Given the description of an element on the screen output the (x, y) to click on. 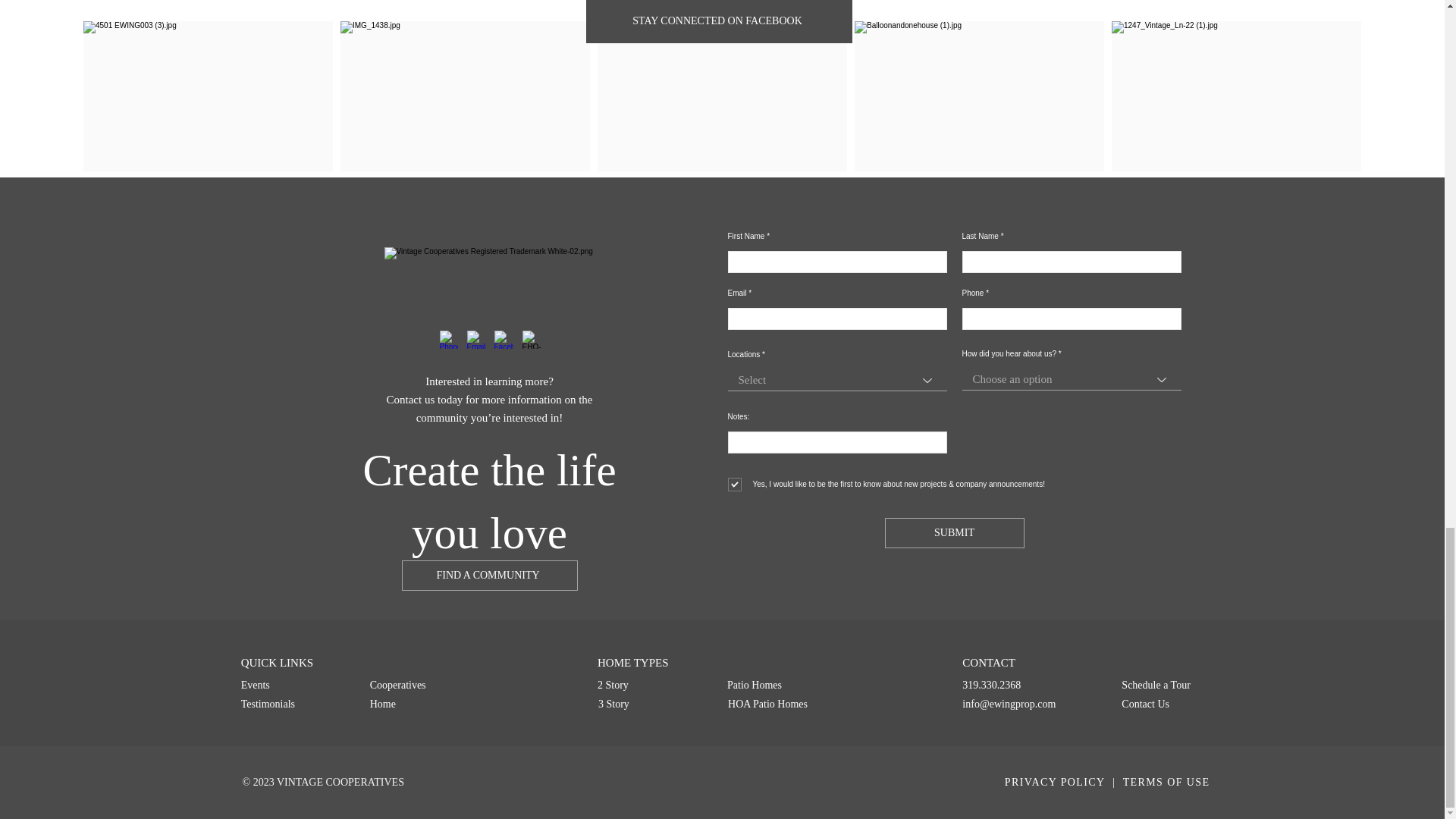
Schedule a Tour (1167, 684)
2 Story (651, 684)
Cooperatives (416, 684)
CONTACT (1032, 662)
HOA Patio Homes (783, 703)
3 Story (652, 703)
Events (295, 684)
Contact Us (1167, 703)
PRIVACY POLICY (1054, 781)
Home (416, 703)
